Given the description of an element on the screen output the (x, y) to click on. 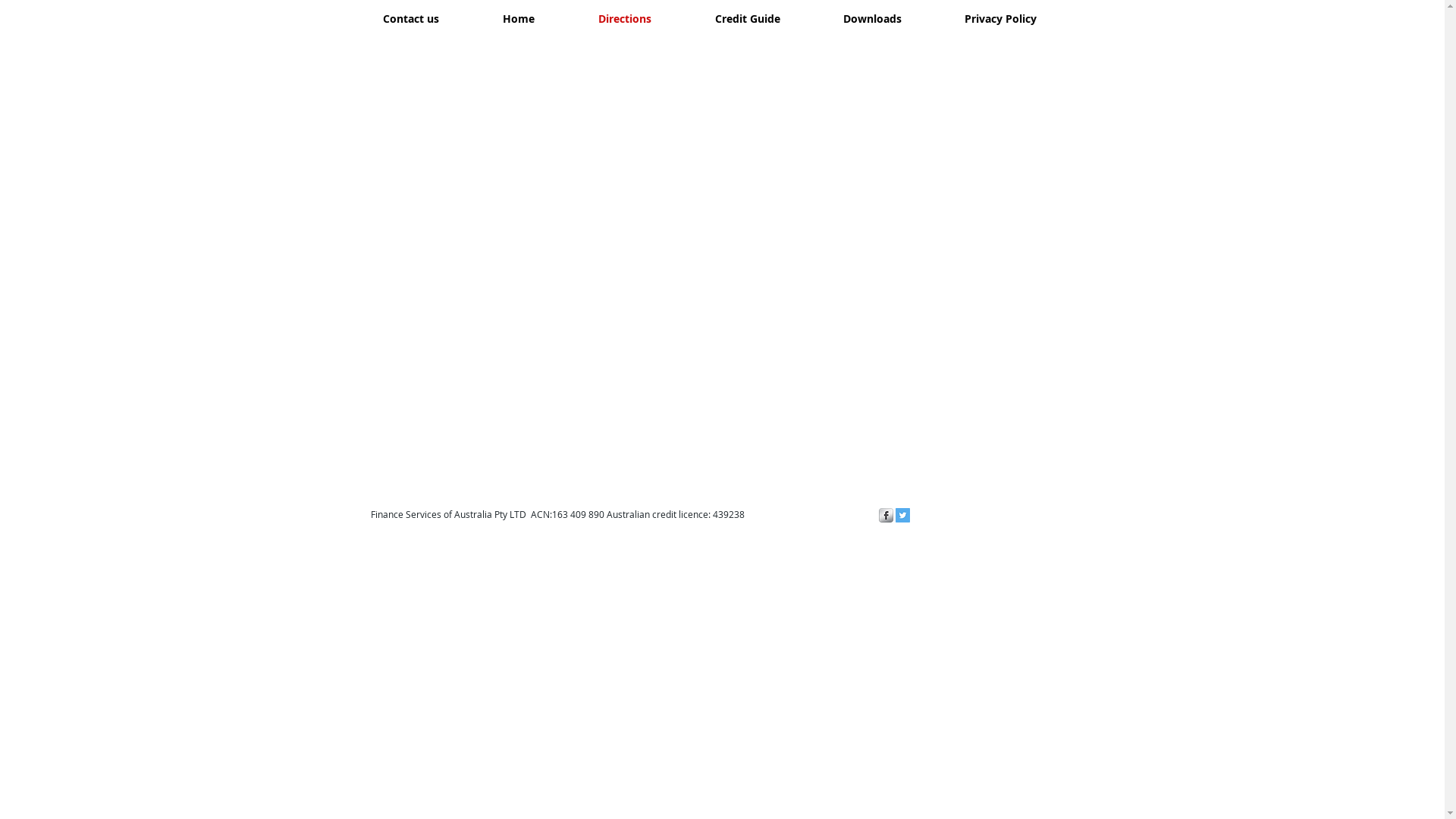
Credit Guide Element type: text (746, 18)
Downloads Element type: text (871, 18)
Privacy Policy Element type: text (999, 18)
Home Element type: text (517, 18)
Directions Element type: text (623, 18)
Contact us Element type: text (410, 18)
